Given the description of an element on the screen output the (x, y) to click on. 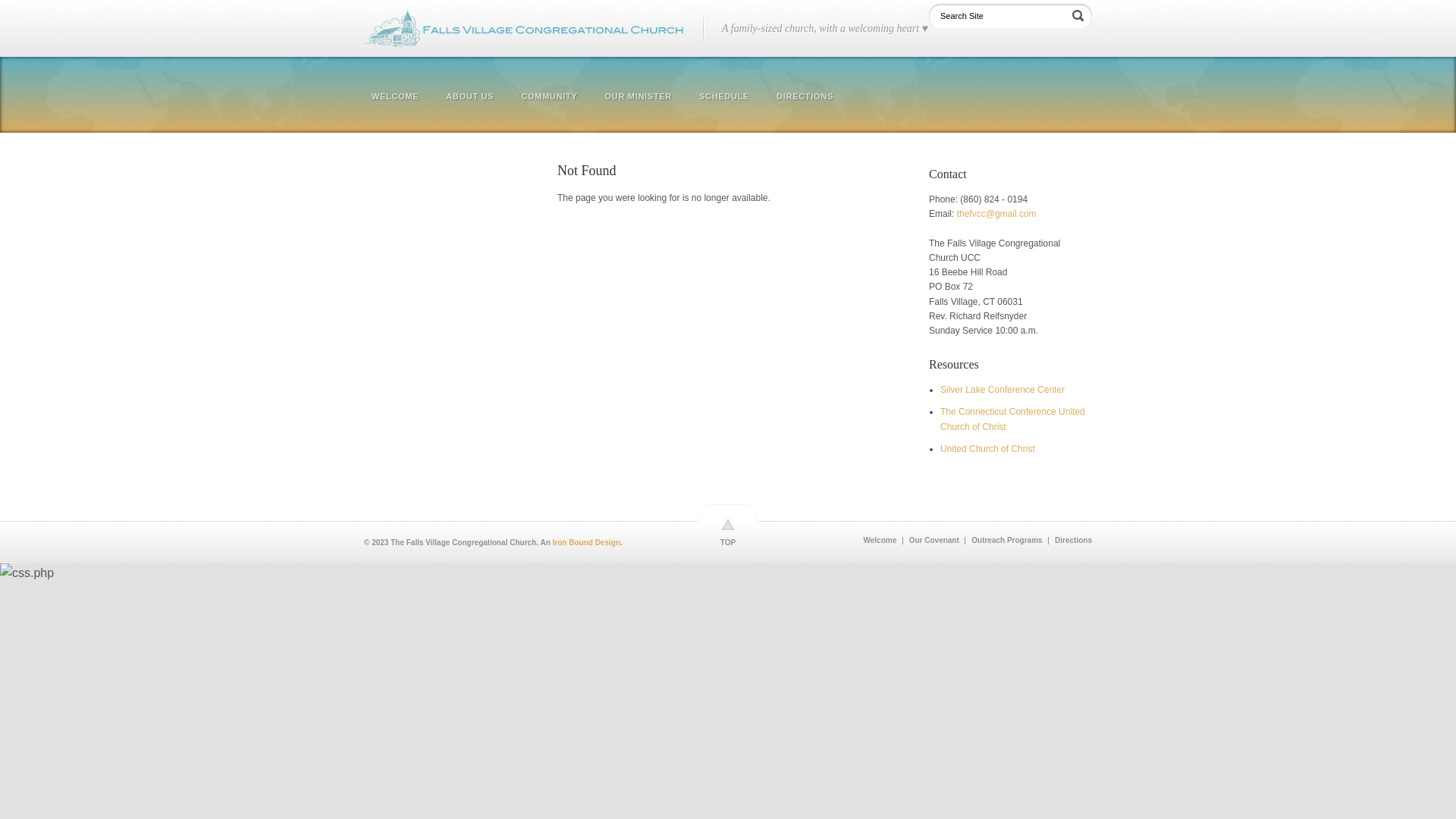
Our Covenant Element type: text (930, 540)
OUR MINISTER Element type: text (638, 96)
Welcome Element type: text (876, 540)
WELCOME Element type: text (398, 96)
Directions Element type: text (1070, 540)
thefvcc@gmail.com Element type: text (996, 213)
DIRECTIONS Element type: text (804, 96)
SCHEDULE Element type: text (723, 96)
COMMUNITY Element type: text (548, 96)
ABOUT US Element type: text (469, 96)
United Church of Christ Element type: text (987, 448)
The Connecticut Conference United Church of Christ Element type: text (1012, 418)
Silver Lake Conference Center Element type: text (1002, 389)
TOP Element type: text (727, 532)
Outreach Programs Element type: text (1002, 540)
Iron Bound Design Element type: text (586, 542)
